Given the description of an element on the screen output the (x, y) to click on. 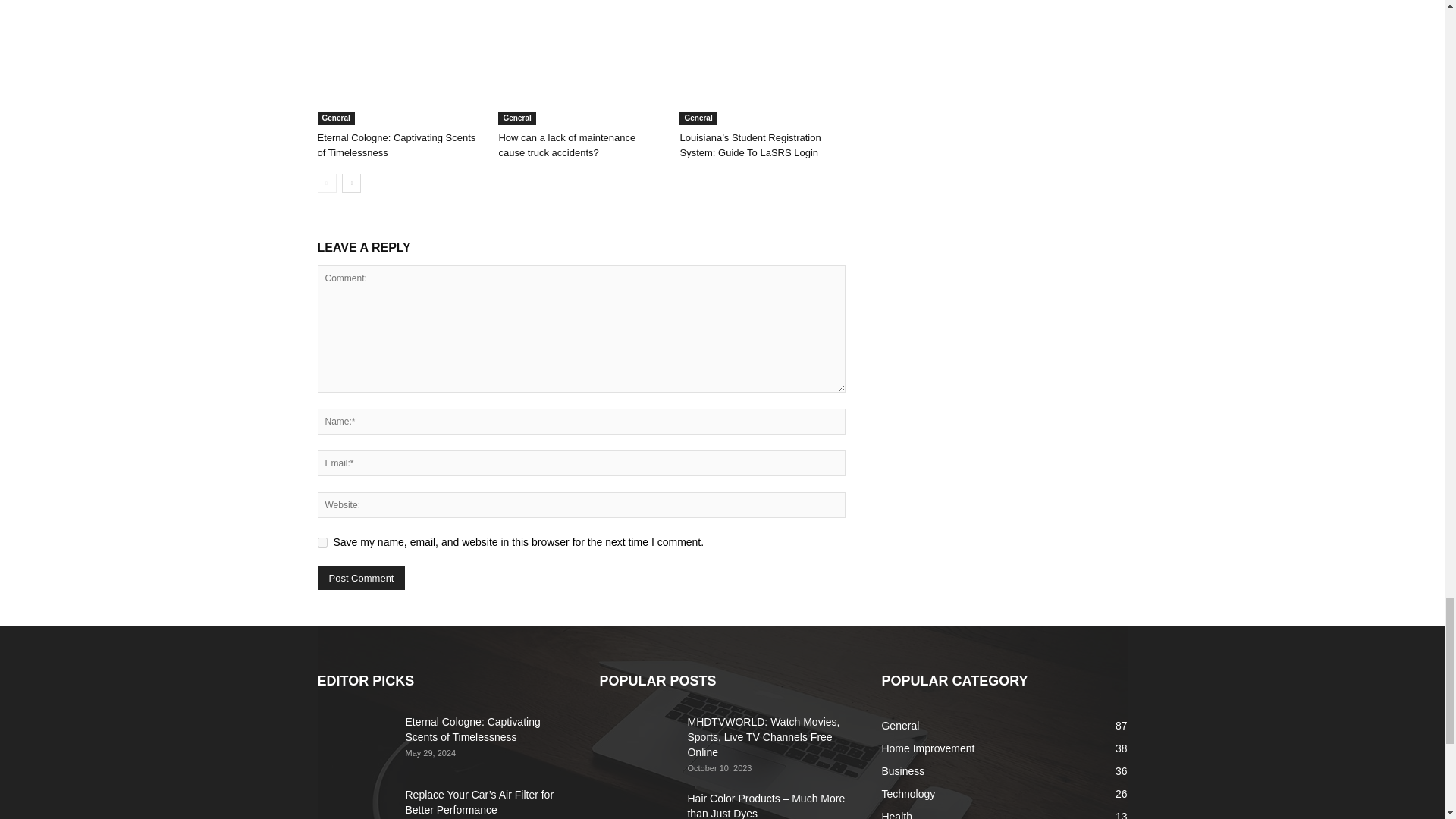
Eternal Cologne: Captivating Scents of Timelessness (399, 68)
Eternal Cologne: Captivating Scents of Timelessness (396, 144)
How can a lack of maintenance cause truck accidents? (580, 68)
Post Comment (360, 577)
yes (321, 542)
How can a lack of maintenance cause truck accidents? (565, 144)
